Given the description of an element on the screen output the (x, y) to click on. 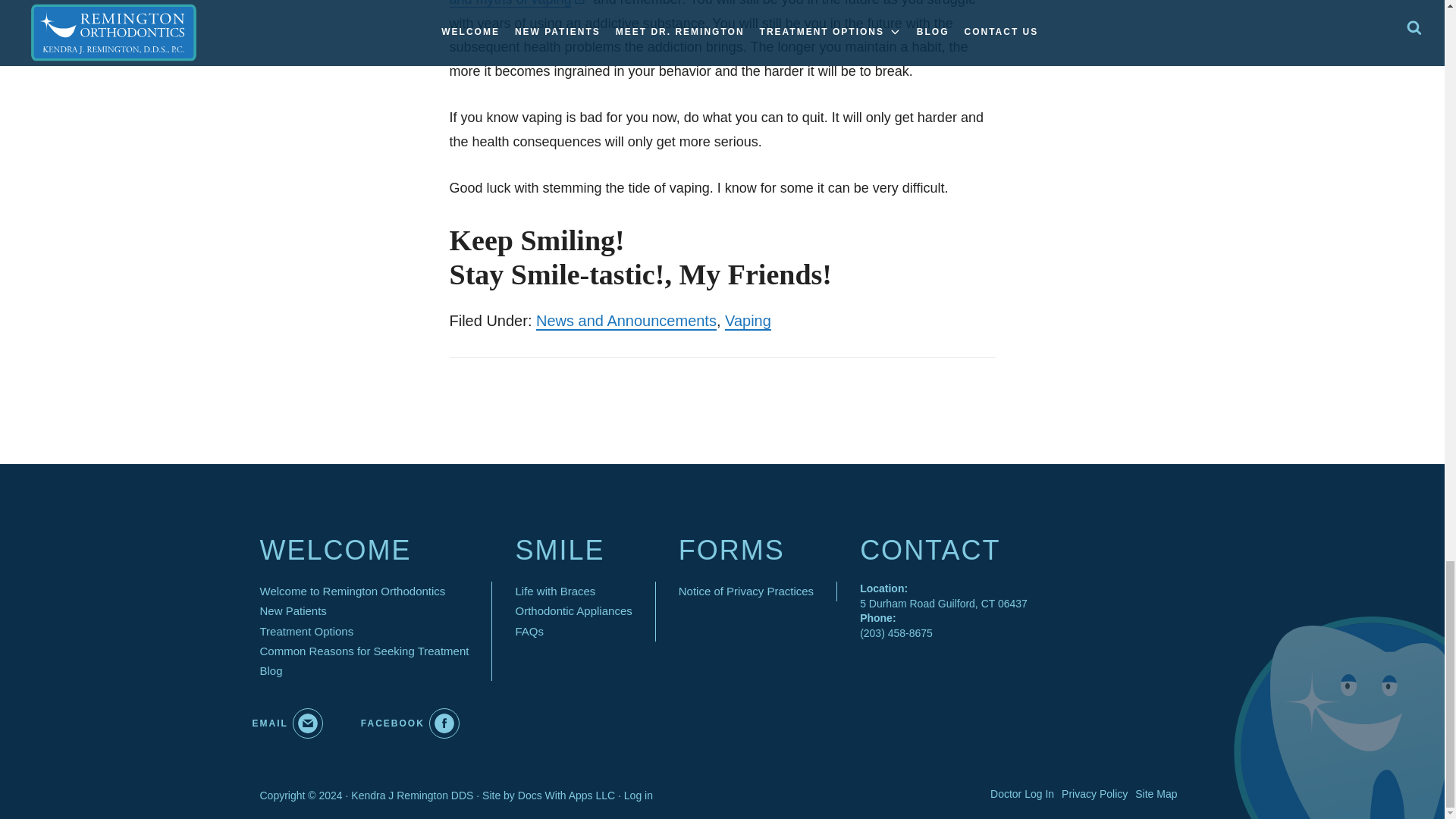
Treatment Options (306, 631)
FAQs (529, 631)
EMAIL (286, 723)
Life with Braces (555, 591)
Vaping (748, 321)
Common Reasons for Seeking Treatment (363, 651)
Log in (638, 795)
News and Announcements (625, 321)
 the facts and myths of vaping (718, 4)
Docs With Apps LLC (566, 795)
Notice of Privacy Practices (745, 591)
New Patients (292, 611)
Doctor Log In (1022, 793)
Privacy Policy (1093, 793)
FACEBOOK (410, 723)
